Given the description of an element on the screen output the (x, y) to click on. 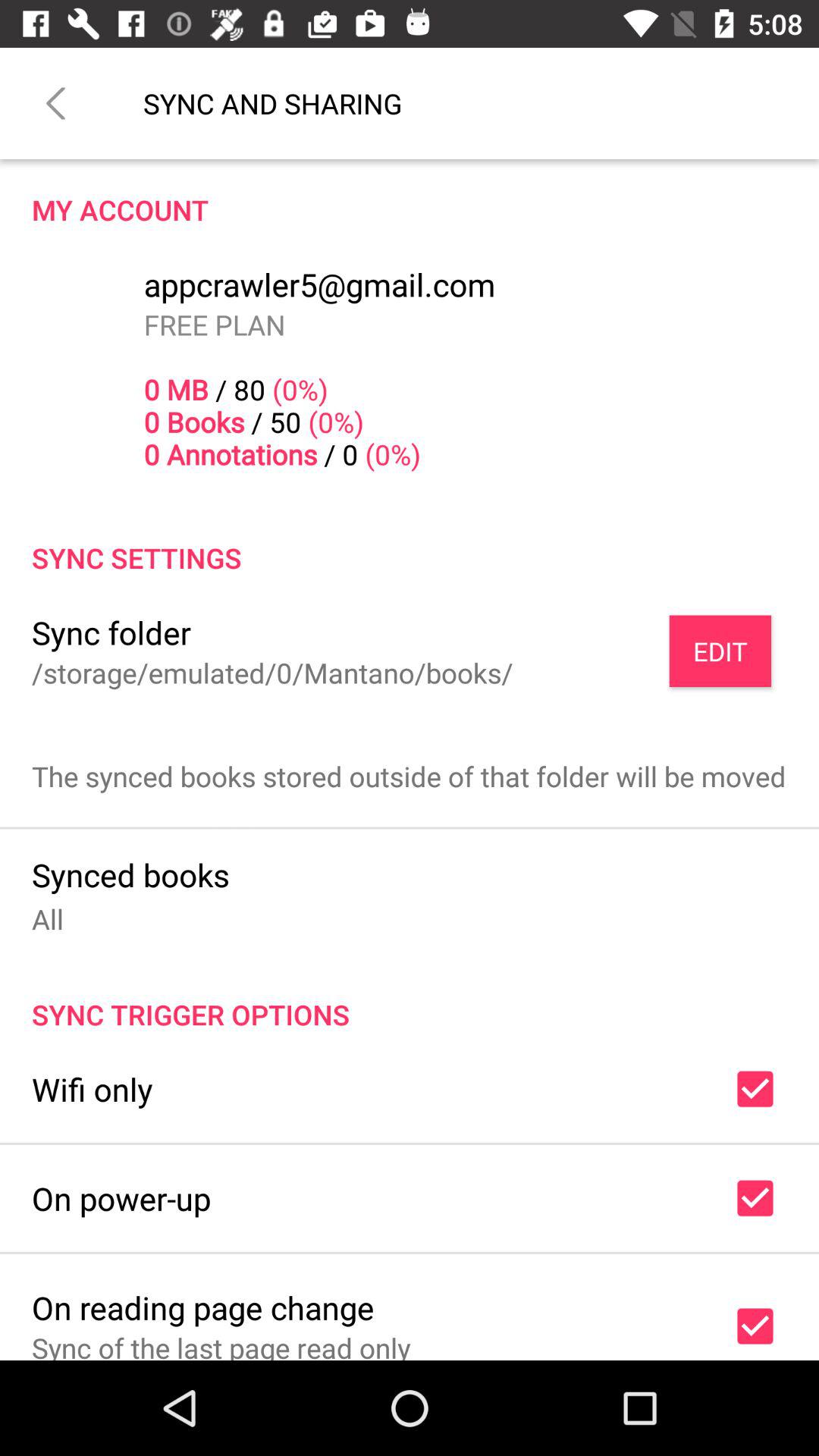
choose the item above the the synced books icon (720, 651)
